Given the description of an element on the screen output the (x, y) to click on. 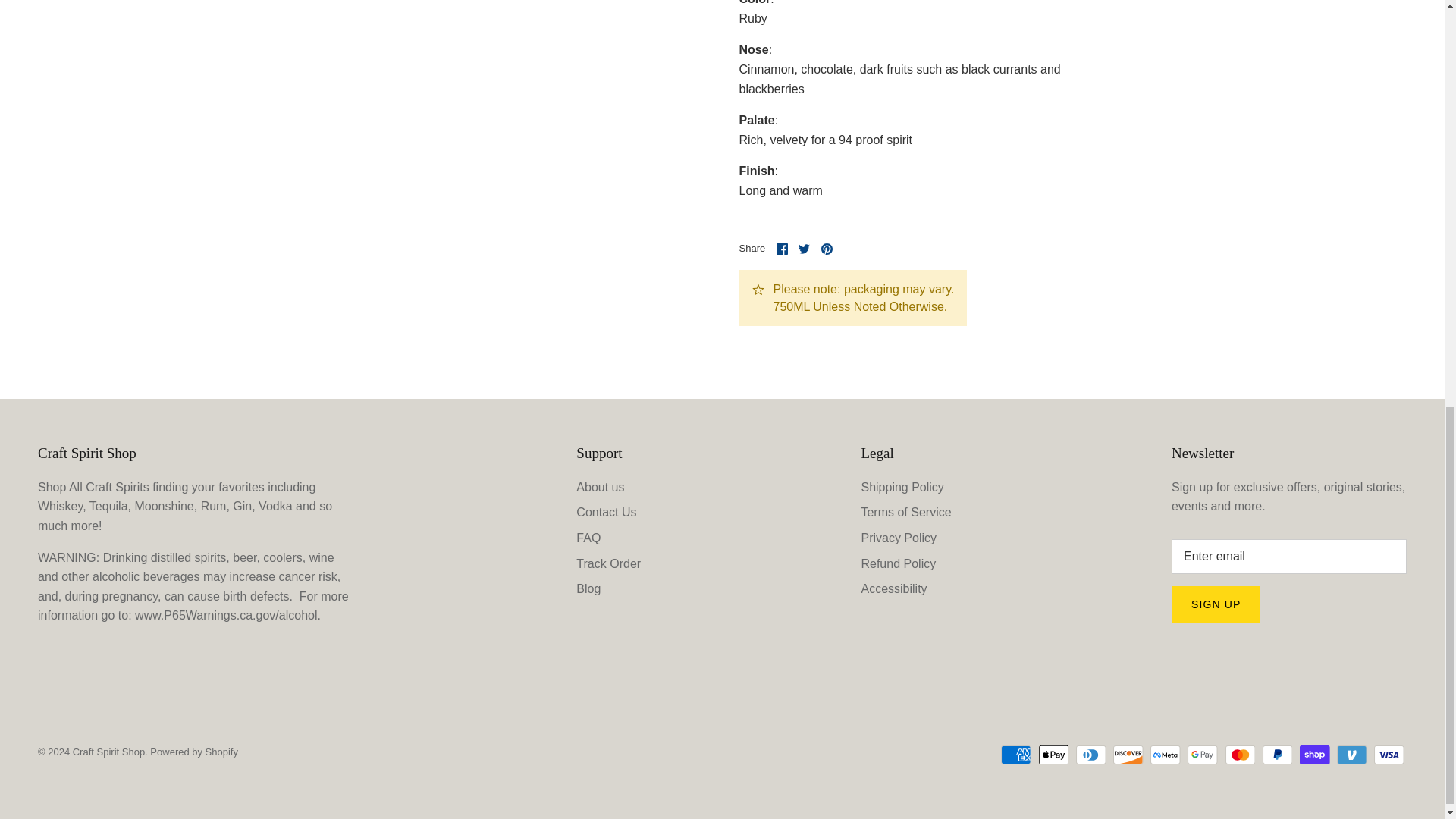
Shop Pay (1314, 754)
WARNING: Drinking (227, 615)
Facebook (781, 248)
Venmo (1351, 754)
Mastercard (1240, 754)
Diners Club (1090, 754)
Discover (1127, 754)
Apple Pay (1053, 754)
Google Pay (1202, 754)
PayPal (1277, 754)
Twitter (803, 248)
American Express (1015, 754)
Pinterest (826, 248)
Meta Pay (1165, 754)
